Given the description of an element on the screen output the (x, y) to click on. 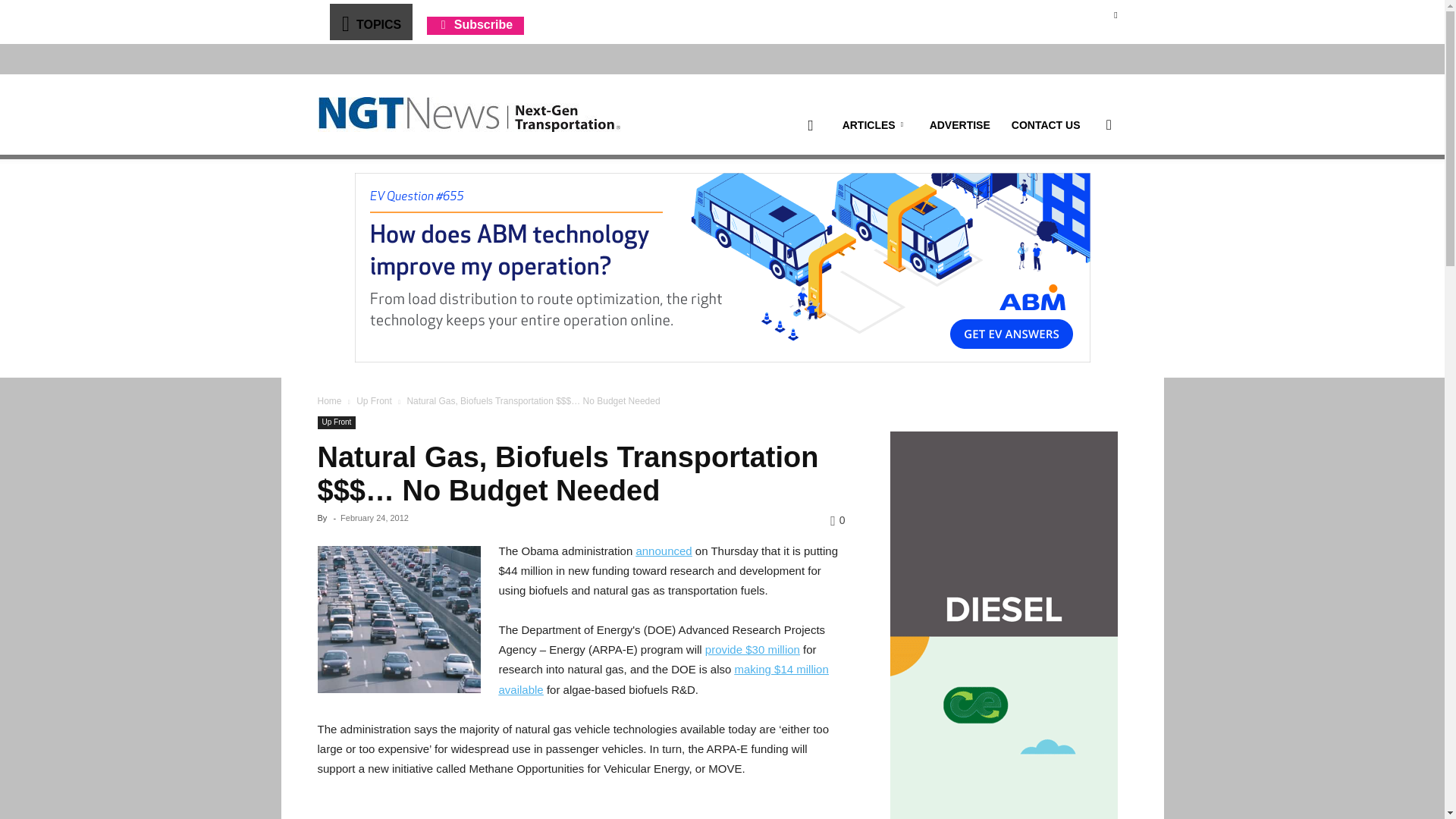
Alternative Fuel News, CNG News (468, 114)
NGT News (468, 114)
Twitter (1114, 14)
Subscribe (475, 24)
TOPICS (370, 22)
ARTICLES (874, 124)
Search (1085, 197)
